Given the description of an element on the screen output the (x, y) to click on. 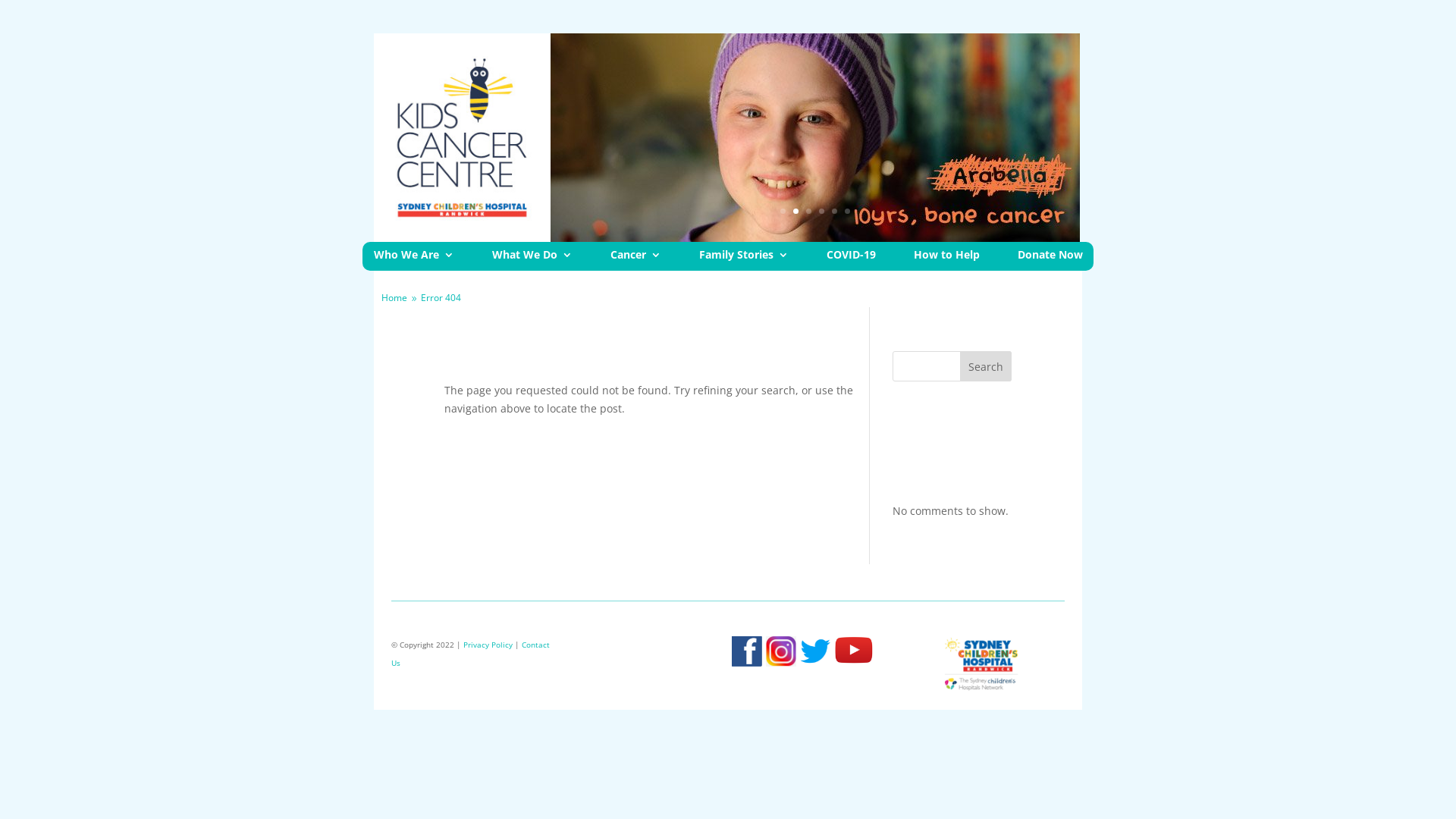
FB 40x40 Element type: hover (746, 651)
What We Do Element type: text (531, 258)
Privacy Policy Element type: text (487, 644)
Twitter 40x40 Element type: hover (815, 650)
1 Element type: text (782, 210)
COVID-19 Element type: text (850, 258)
4 Element type: text (821, 210)
Search Element type: text (985, 366)
SCH Logo - resized Element type: hover (980, 663)
Cancer Element type: text (634, 258)
Donate Now Element type: text (1049, 258)
6 Element type: text (847, 210)
5 Element type: text (834, 210)
3 Element type: text (808, 210)
Instagram 40x40 Element type: hover (780, 651)
How to Help Element type: text (946, 258)
kcc_logo_bee1 Element type: hover (462, 137)
Home Element type: text (394, 297)
Who We Are Element type: text (413, 258)
Contact Us Element type: text (470, 653)
Family Stories Element type: text (743, 258)
YouTube 40x50 Element type: hover (853, 651)
2 Element type: text (795, 210)
